Given the description of an element on the screen output the (x, y) to click on. 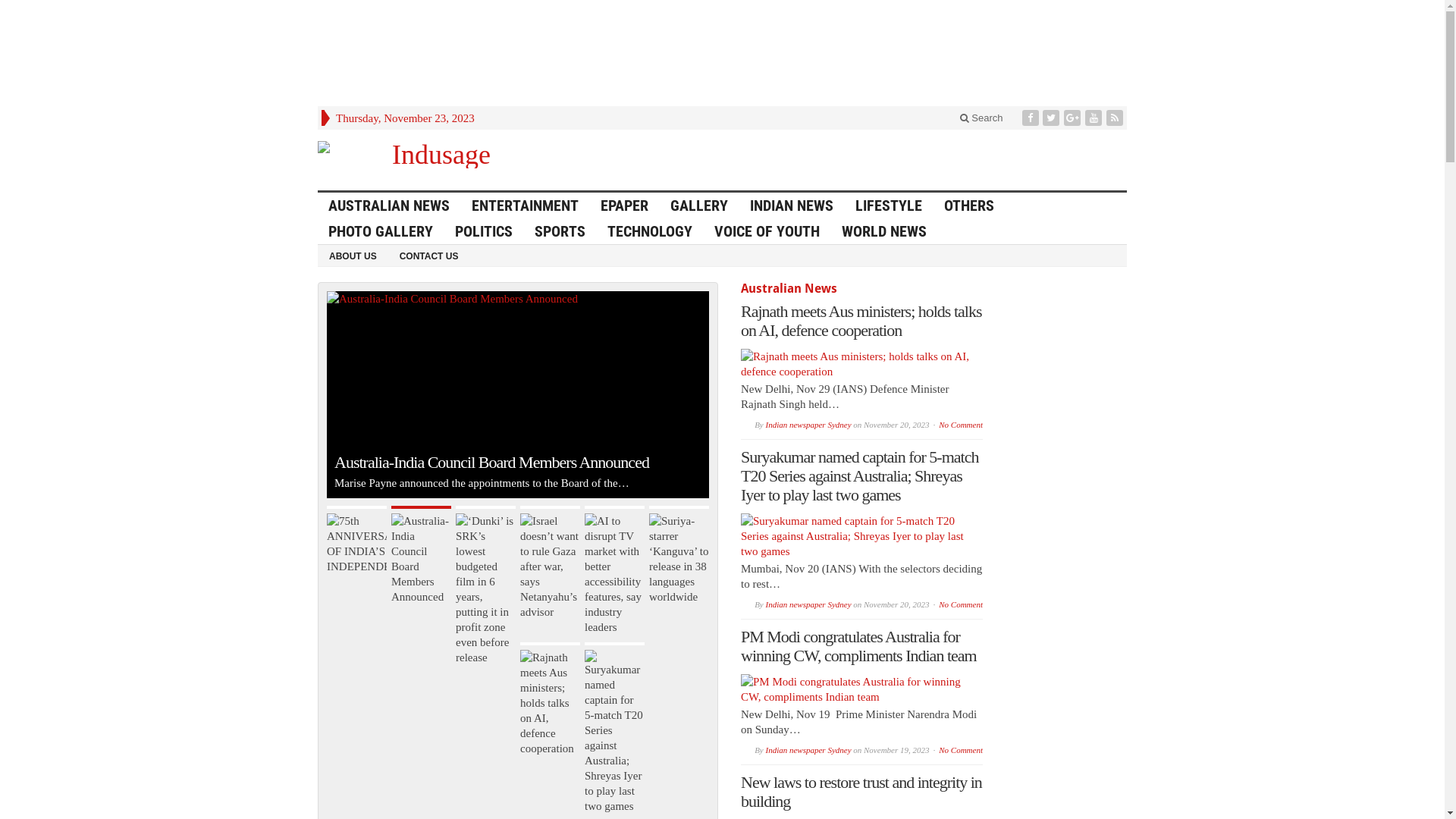
SPORTS Element type: text (560, 231)
Twitter Element type: hover (1052, 117)
EPAPER Element type: text (624, 205)
New laws to restore trust and integrity in building Element type: text (861, 791)
INDIAN NEWS Element type: text (791, 205)
ABOUT US Element type: text (352, 255)
Site feed Element type: hover (1115, 117)
Indian newspaper Sydney Element type: text (808, 603)
Search Element type: text (981, 117)
Australia-India Council Board Members Announced Element type: hover (421, 554)
LIFESTYLE Element type: text (888, 205)
GALLERY Element type: text (699, 205)
No 1 Indian newspaper in Australia Element type: hover (434, 154)
Indian newspaper Sydney Element type: text (808, 749)
CONTACT US Element type: text (429, 255)
No Comment Element type: text (960, 749)
Australian News Element type: text (788, 288)
AUSTRALIAN NEWS Element type: text (389, 205)
WORLD NEWS Element type: text (884, 231)
PHOTO GALLERY Element type: text (380, 231)
Youtube Element type: hover (1094, 117)
Indian newspaper Sydney Element type: text (808, 424)
Australia-India Council Board Members Announced Element type: hover (451, 298)
Facebook Element type: hover (1031, 117)
OTHERS Element type: text (969, 205)
ENTERTAINMENT Element type: text (525, 205)
Google+ Element type: hover (1073, 117)
No Comment Element type: text (960, 603)
No Comment Element type: text (960, 424)
TECHNOLOGY Element type: text (649, 231)
POLITICS Element type: text (484, 231)
VOICE OF YOUTH Element type: text (767, 231)
